Given the description of an element on the screen output the (x, y) to click on. 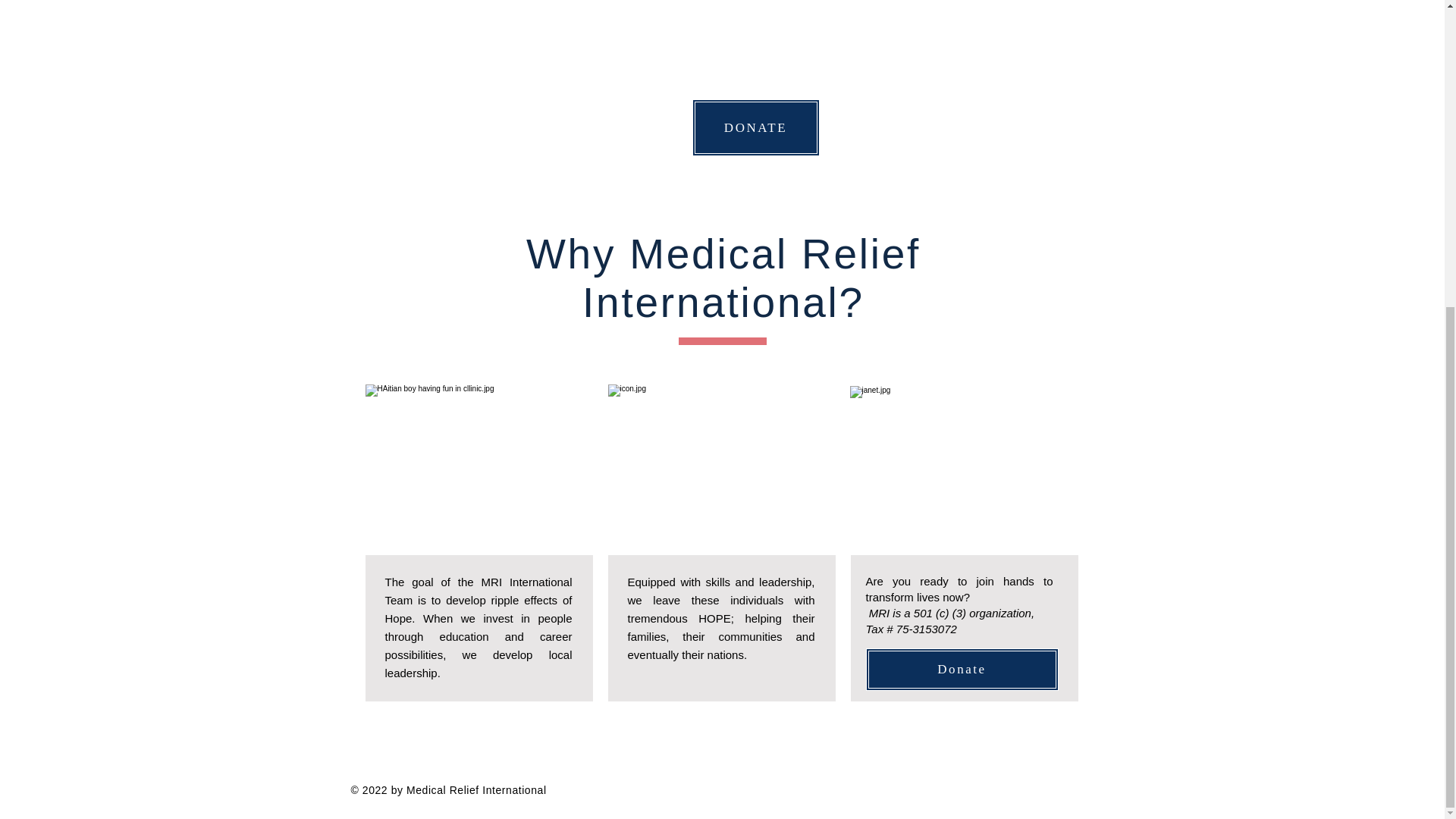
Donate (962, 669)
DONATE (754, 127)
